Given the description of an element on the screen output the (x, y) to click on. 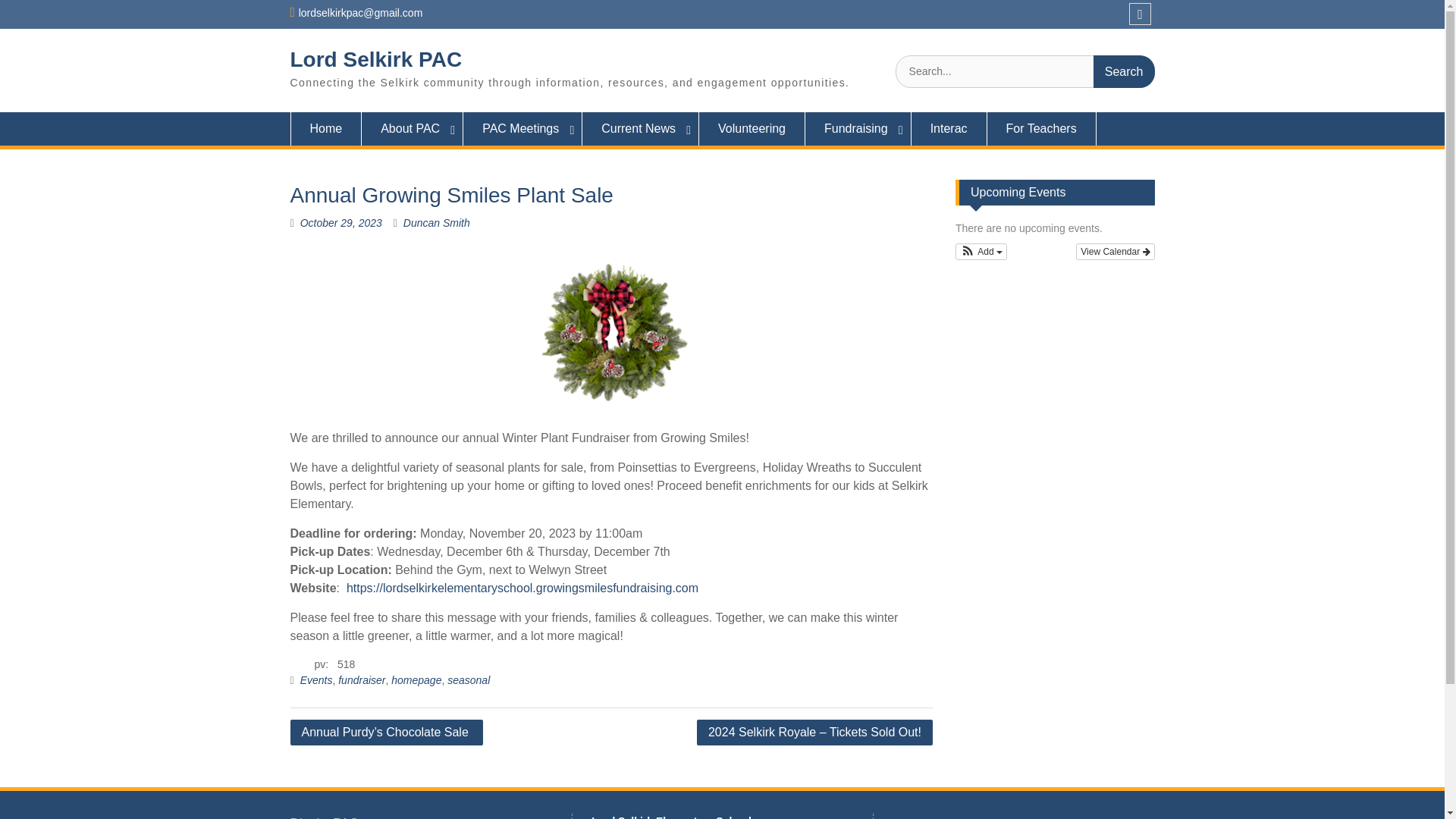
Home (325, 128)
Current News (640, 128)
fundraiser (361, 680)
About PAC (412, 128)
Interac (949, 128)
seasonal (467, 680)
For Teachers (1041, 128)
October 29, 2023 (340, 223)
Duncan Smith (436, 223)
Fundraising (858, 128)
Search (1123, 71)
Lord Selkirk PAC (375, 59)
Facebook (1140, 14)
Search (1123, 71)
Events (316, 680)
